Given the description of an element on the screen output the (x, y) to click on. 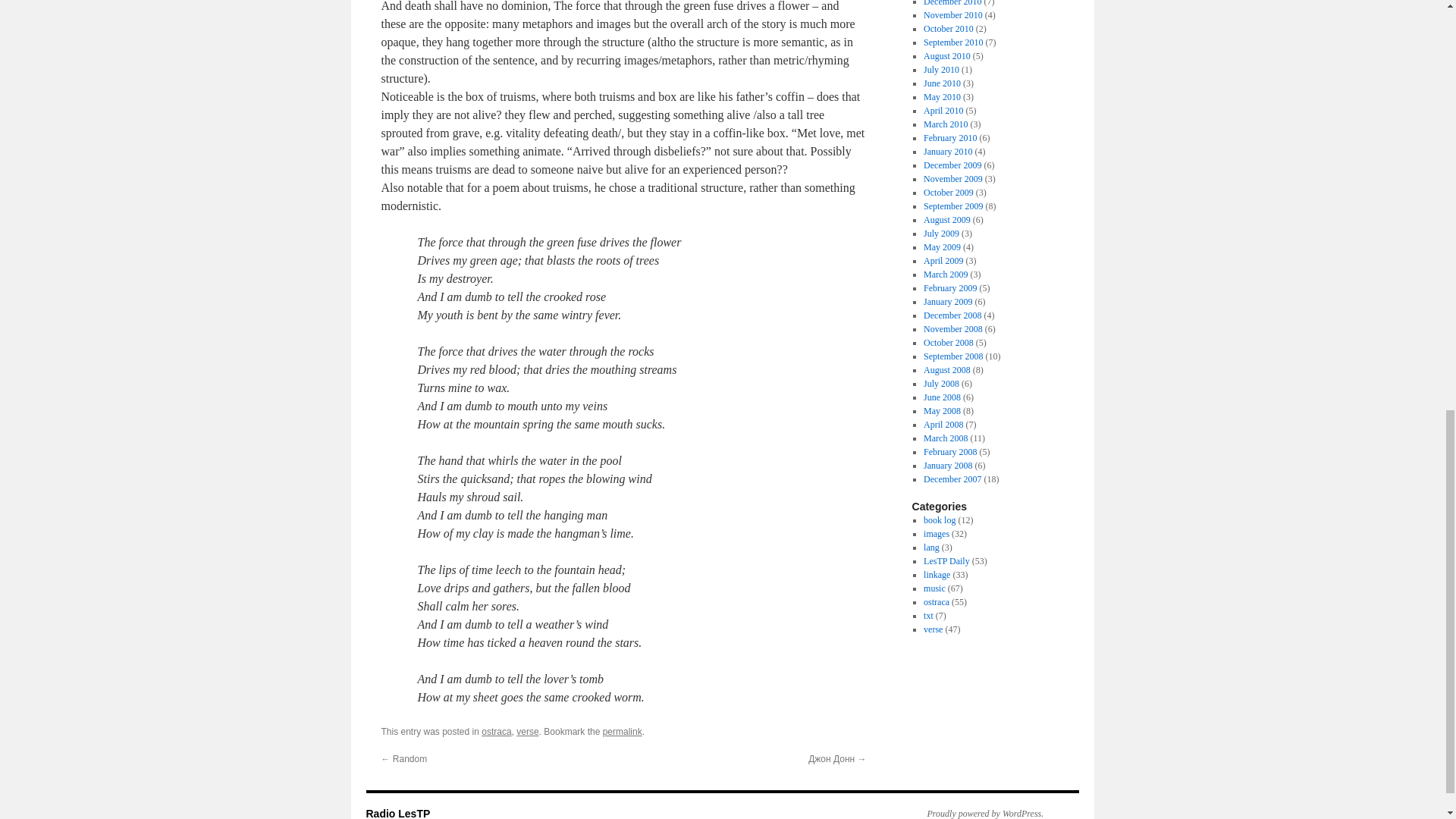
ostraca (496, 731)
Permalink to Truisms (622, 731)
verse (527, 731)
permalink (622, 731)
